Given the description of an element on the screen output the (x, y) to click on. 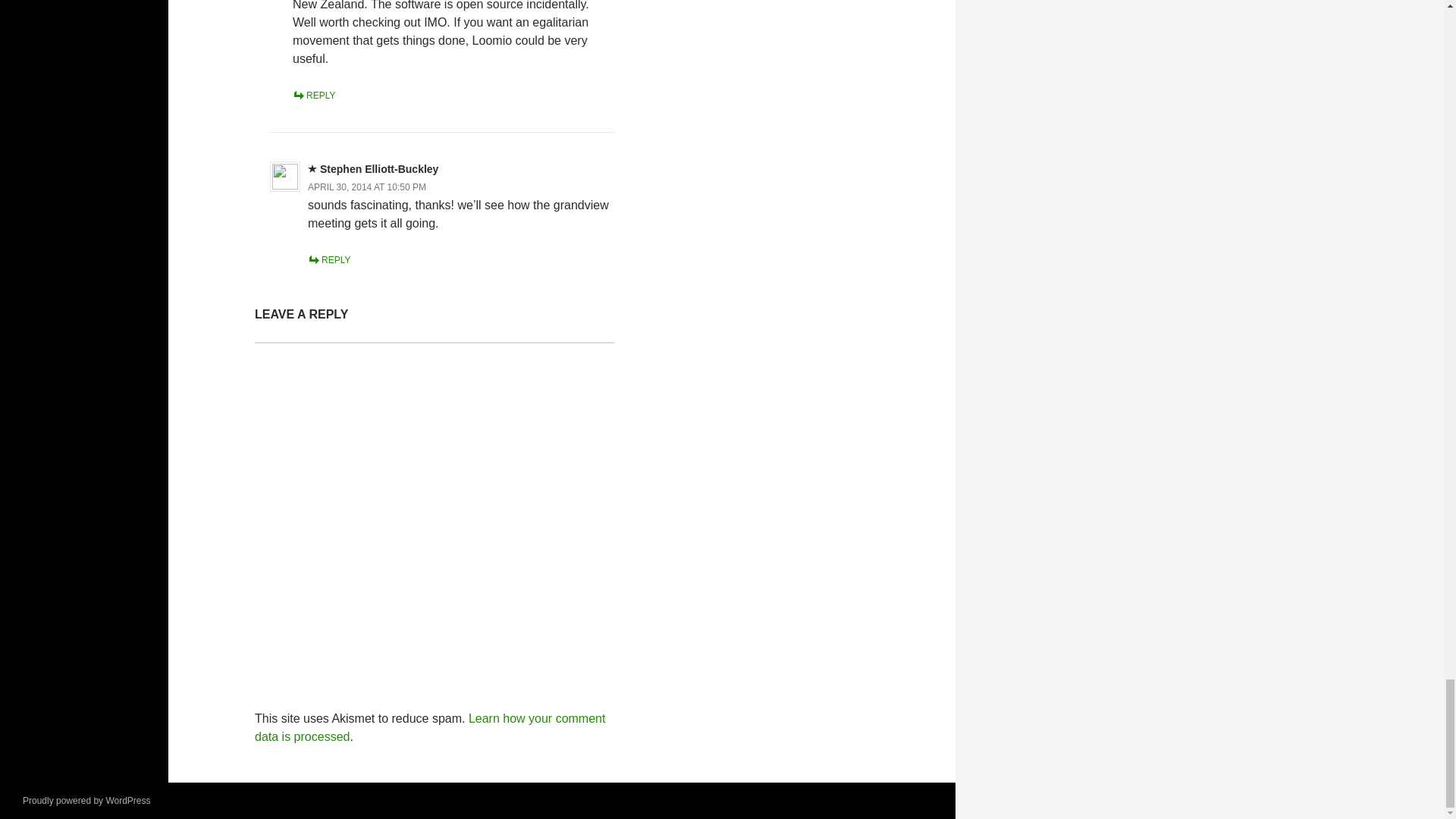
Comment Form (434, 505)
